Given the description of an element on the screen output the (x, y) to click on. 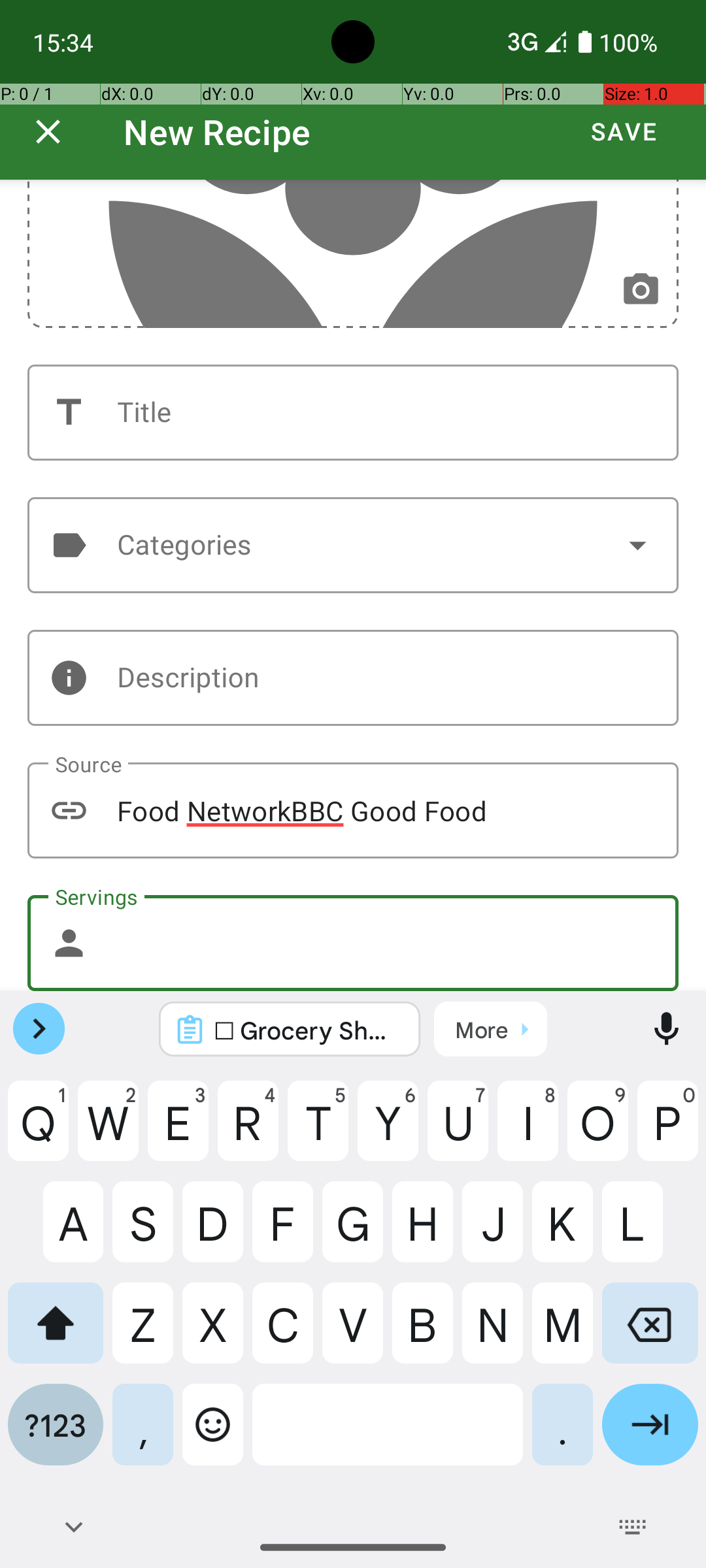
Change photo Element type: android.widget.ImageView (640, 289)
Title Element type: android.widget.EditText (352, 412)
Description Element type: android.widget.EditText (352, 677)
Food NetworkBBC Good Food Element type: android.widget.EditText (352, 810)
☐ Grocery Shopping ☐ Call Grandma ☐ Attend Team Meeting ☐ Take Dog to the Vet ☐ Finish Project Proposal ☐ Water Plants ☐ Reply to Emails ☐ Change Air Filter ☐ Submit Expense Report ☐ Submit Budget Report ☑ Read 'The Martian' ☑ Grocery Shopping ☑ Submit Expense Report ☑ Brainstorm Blog Post Ideas ☑ Change Air Filter ☑ Research Vacation Destinations ☑ Finish Project Proposal ☑ Change Air Filter ☑ Take Dog to the Vet ☑ Submit Expense Report ☑ Learn to Play Guitar Element type: android.widget.TextView (306, 1029)
